Given the description of an element on the screen output the (x, y) to click on. 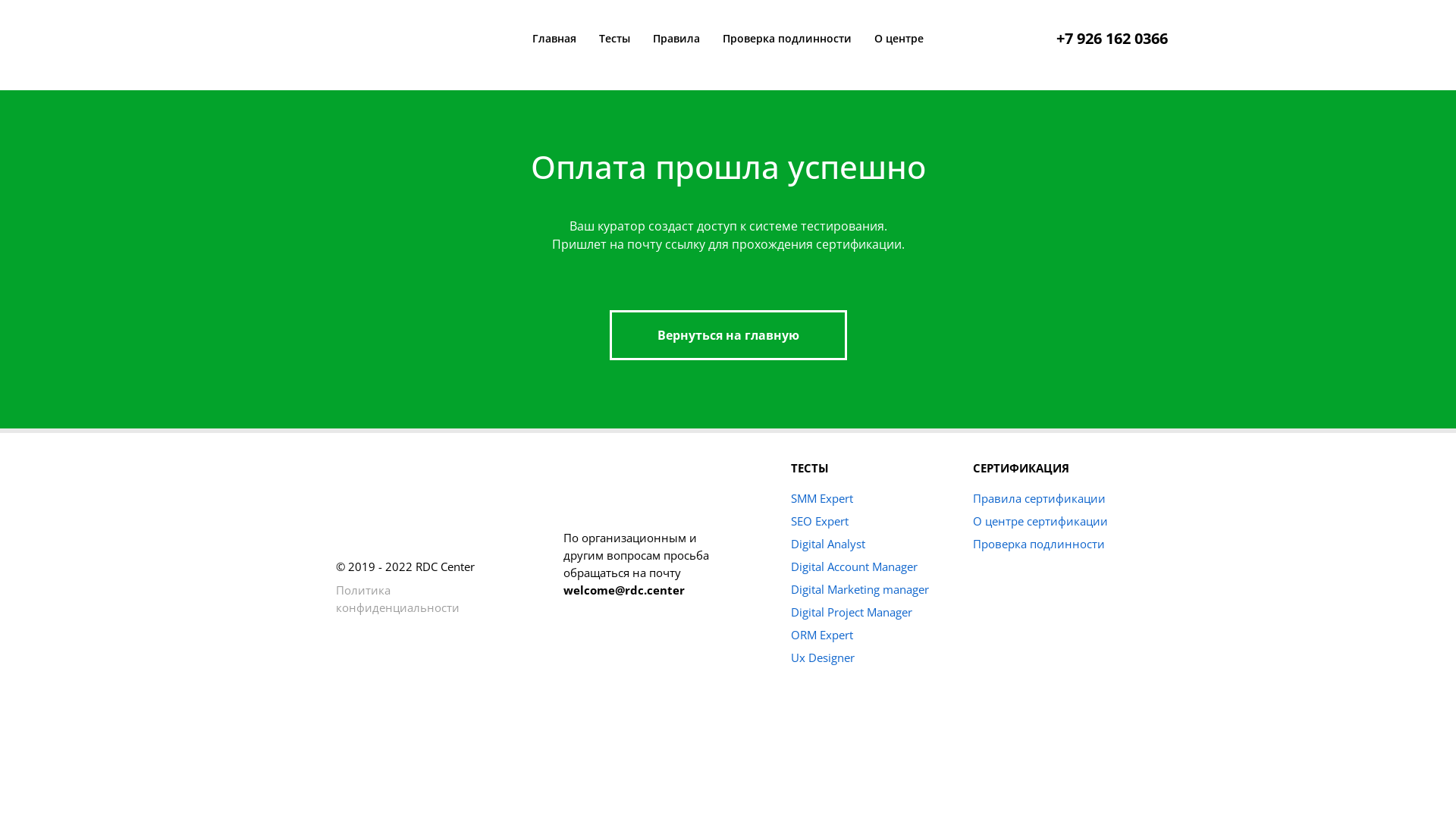
SMM Expert Element type: text (821, 497)
ORM Expert Element type: text (821, 634)
SEO Expert Element type: text (819, 520)
Digital Marketing manager Element type: text (859, 588)
+7 926 162 0366 Element type: text (1111, 37)
Digital Analyst Element type: text (827, 543)
Ux Designer Element type: text (822, 657)
Digital Account Manager Element type: text (853, 566)
Digital Project Manager Element type: text (851, 611)
